Given the description of an element on the screen output the (x, y) to click on. 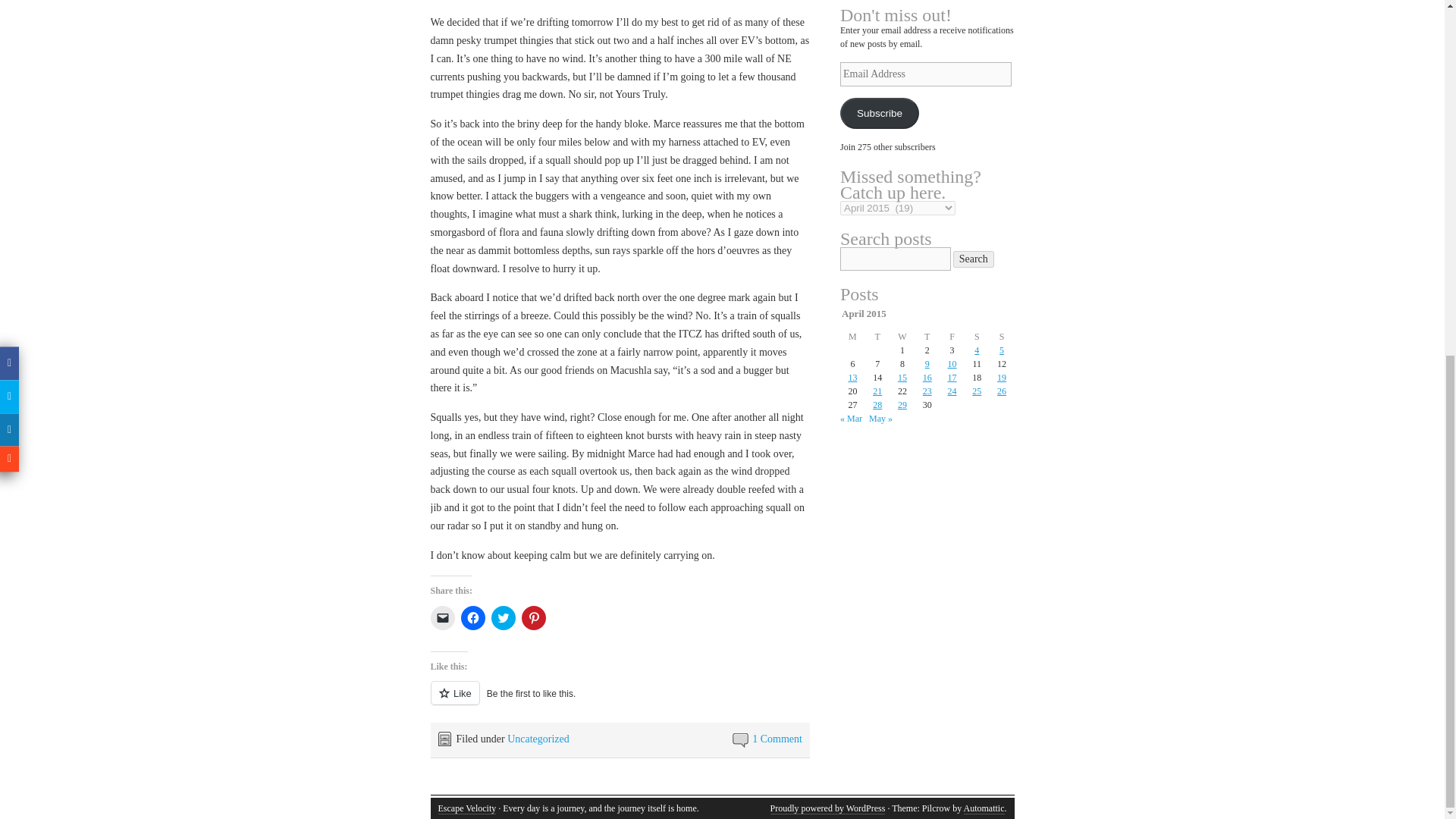
A Semantic Personal Publishing Platform (827, 808)
Search (973, 258)
Monday (852, 336)
Tuesday (876, 336)
Thursday (926, 336)
Click to share on Twitter (503, 617)
Click to email a link to a friend (442, 617)
Uncategorized (537, 738)
Escape Velocity (467, 808)
Sunday (1002, 336)
1 Comment (777, 738)
Like or Reblog (619, 701)
Friday (951, 336)
Wednesday (902, 336)
Click to share on Pinterest (533, 617)
